Given the description of an element on the screen output the (x, y) to click on. 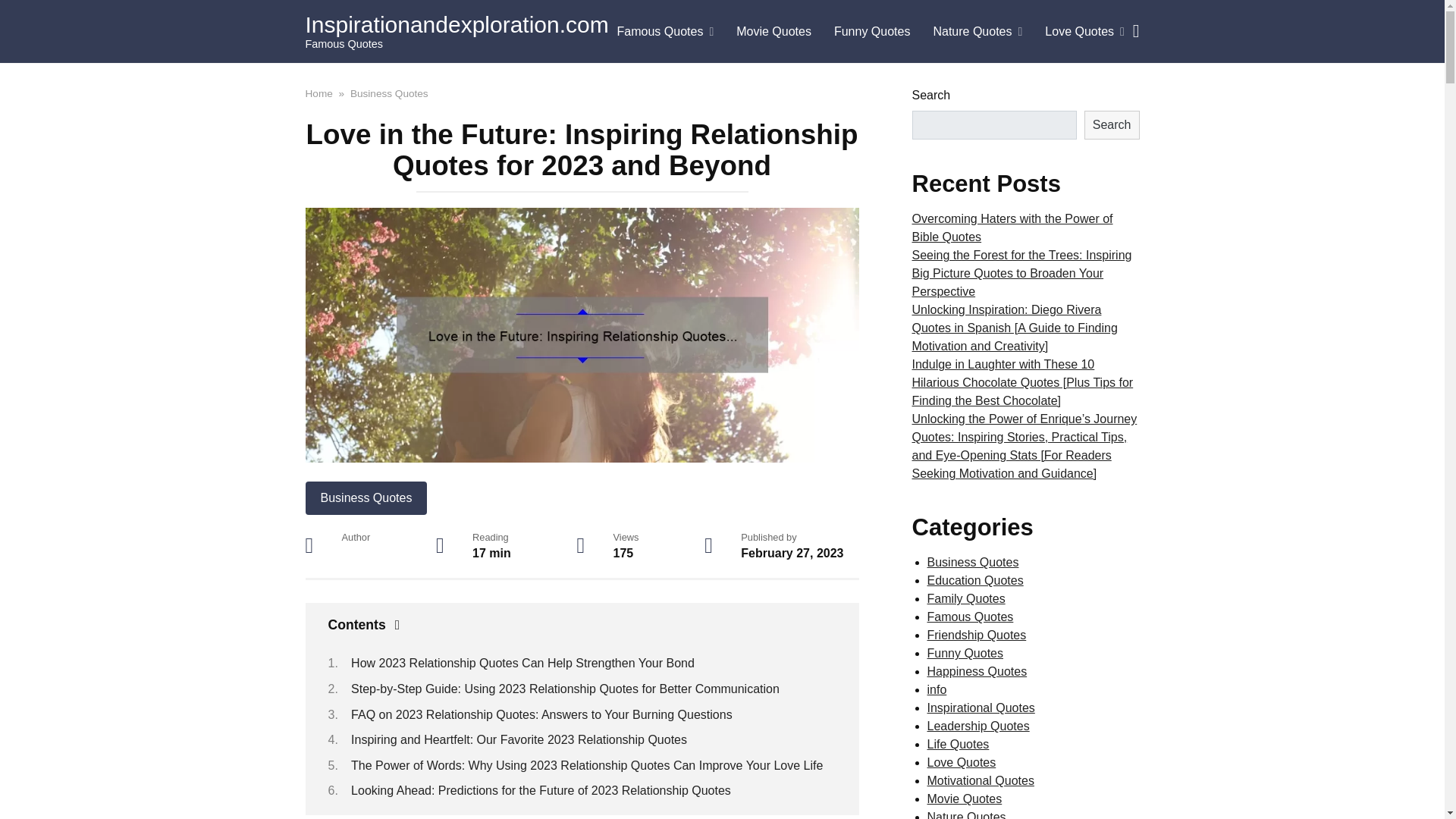
Love Quotes (1084, 31)
Home (317, 93)
Business Quotes (389, 93)
How 2023 Relationship Quotes Can Help Strengthen Your Bond (522, 662)
Nature Quotes (977, 31)
Famous Quotes (665, 31)
Funny Quotes (871, 31)
Business Quotes (365, 498)
